Given the description of an element on the screen output the (x, y) to click on. 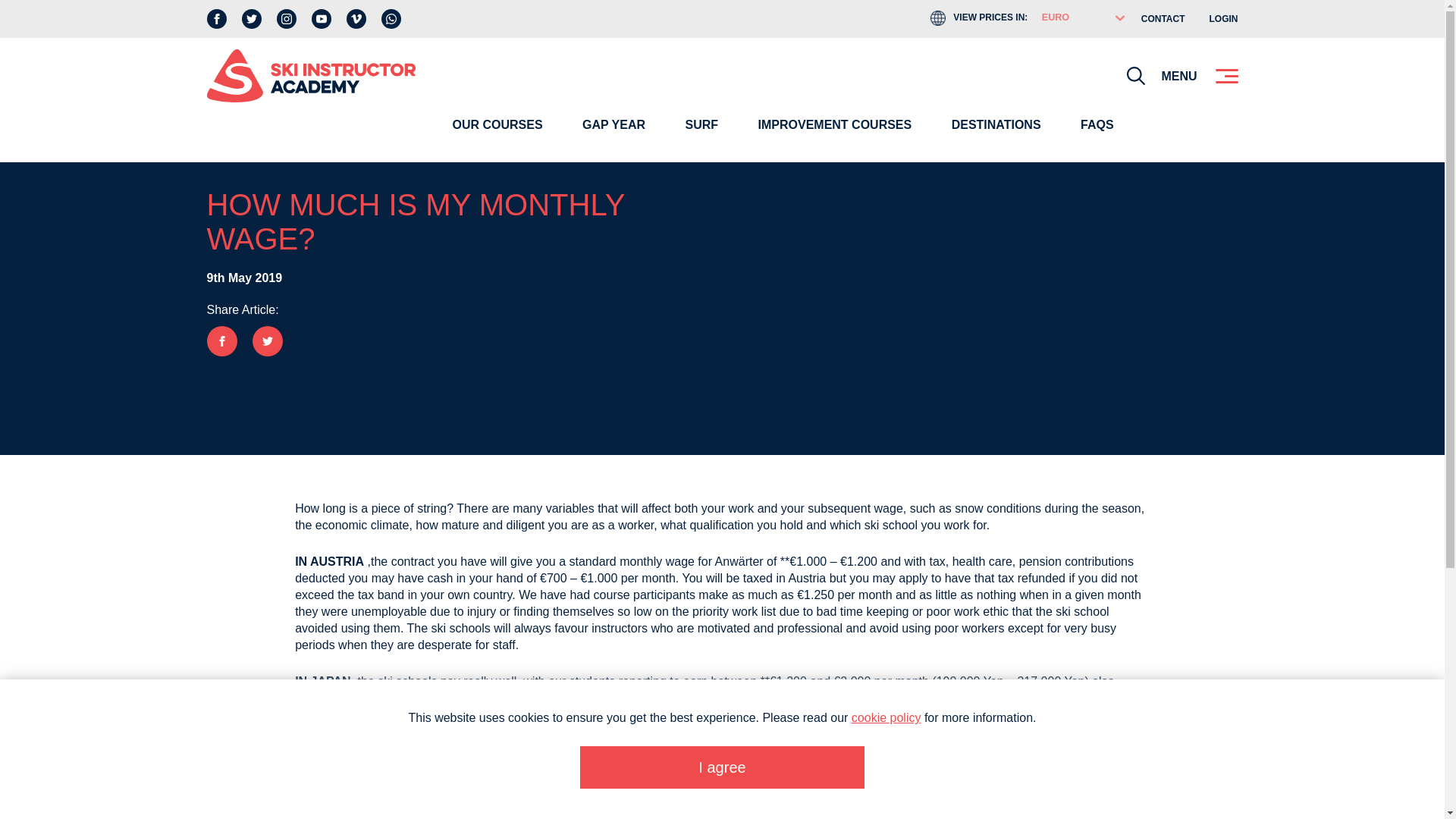
vimeo (355, 18)
whatsapp (390, 18)
YouTube (320, 18)
SURF (701, 137)
FAQS (1096, 137)
Facebook (215, 18)
Twitter (250, 18)
Instagram (285, 18)
LOGIN (1222, 18)
OUR COURSES (496, 137)
DESTINATIONS (995, 137)
GAP YEAR (614, 137)
CONTACT (1163, 18)
IMPROVEMENT COURSES (834, 137)
